Given the description of an element on the screen output the (x, y) to click on. 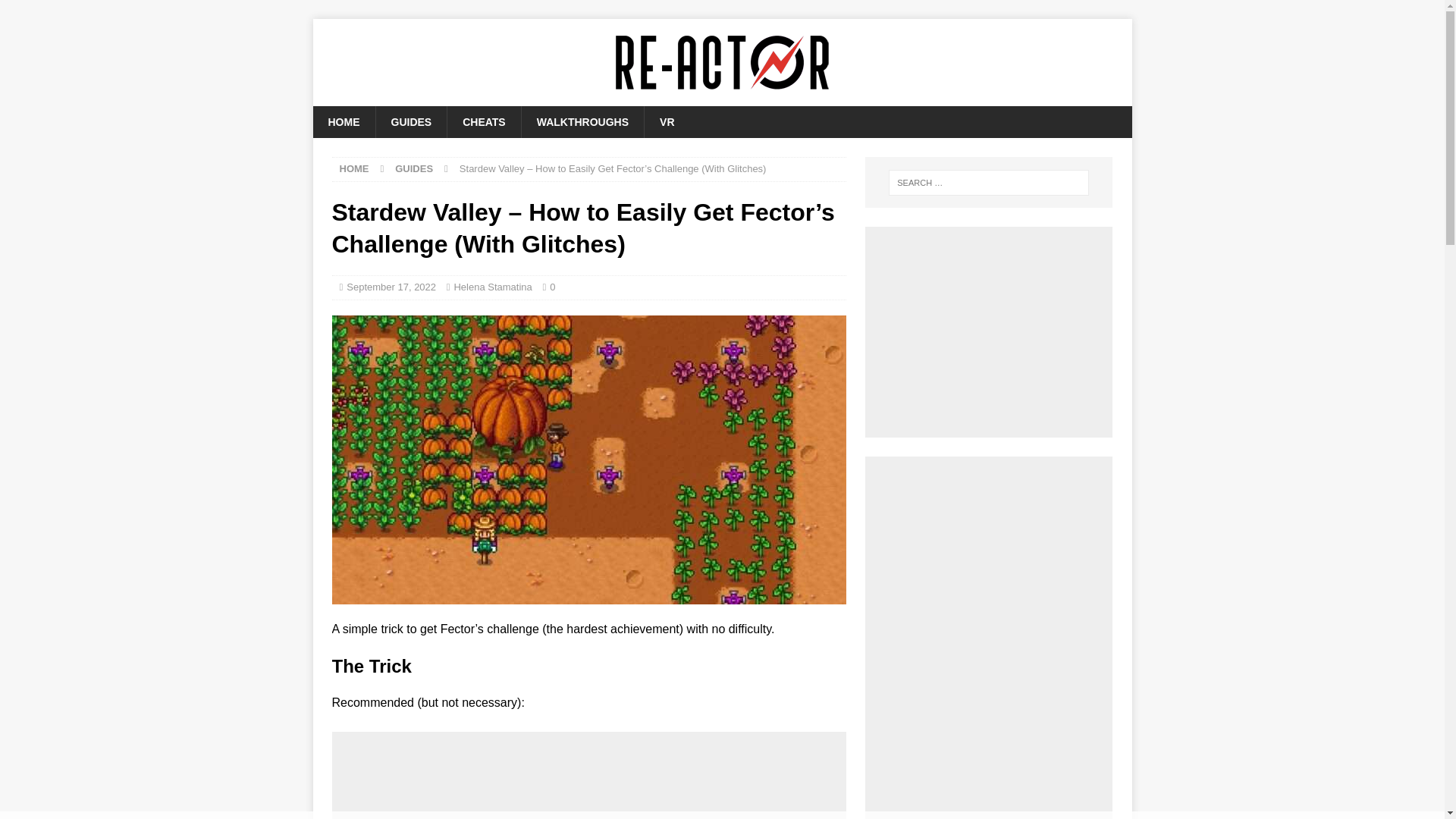
September 17, 2022 (390, 286)
Helena Stamatina (491, 286)
HOME (343, 122)
GUIDES (413, 168)
GUIDES (410, 122)
VR (665, 122)
HOME (354, 168)
WALKTHROUGHS (582, 122)
CHEATS (483, 122)
